Given the description of an element on the screen output the (x, y) to click on. 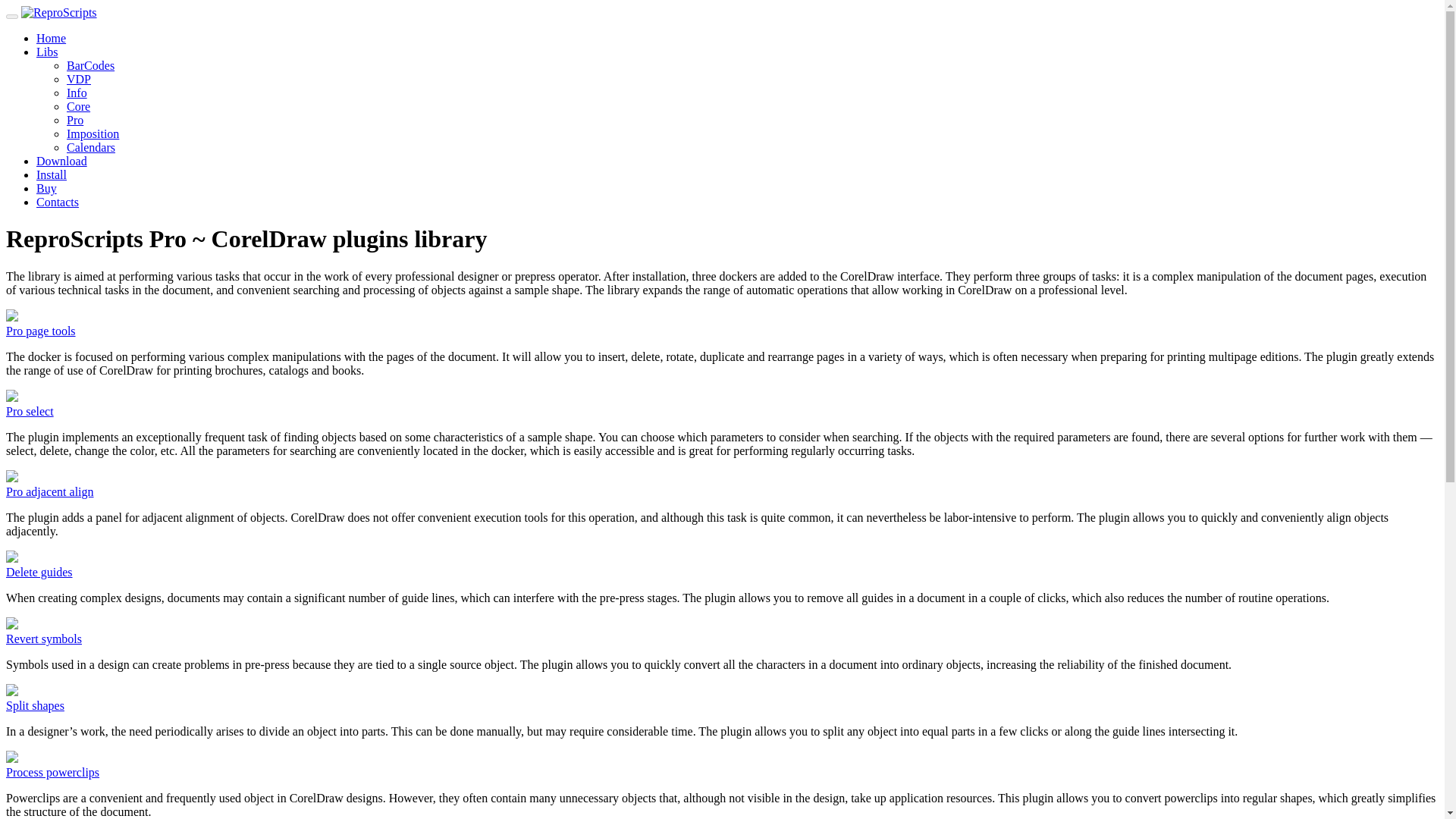
Process powerclips (52, 771)
VDP (78, 78)
Split shapes (34, 705)
Install (51, 174)
Buy (46, 187)
Core (78, 106)
Contacts (57, 201)
Libs (47, 51)
BarCodes (90, 65)
Delete guides (38, 571)
Imposition (92, 133)
Pro (74, 119)
Revert symbols (43, 638)
Pro select (29, 410)
Pro adjacent align (49, 491)
